Given the description of an element on the screen output the (x, y) to click on. 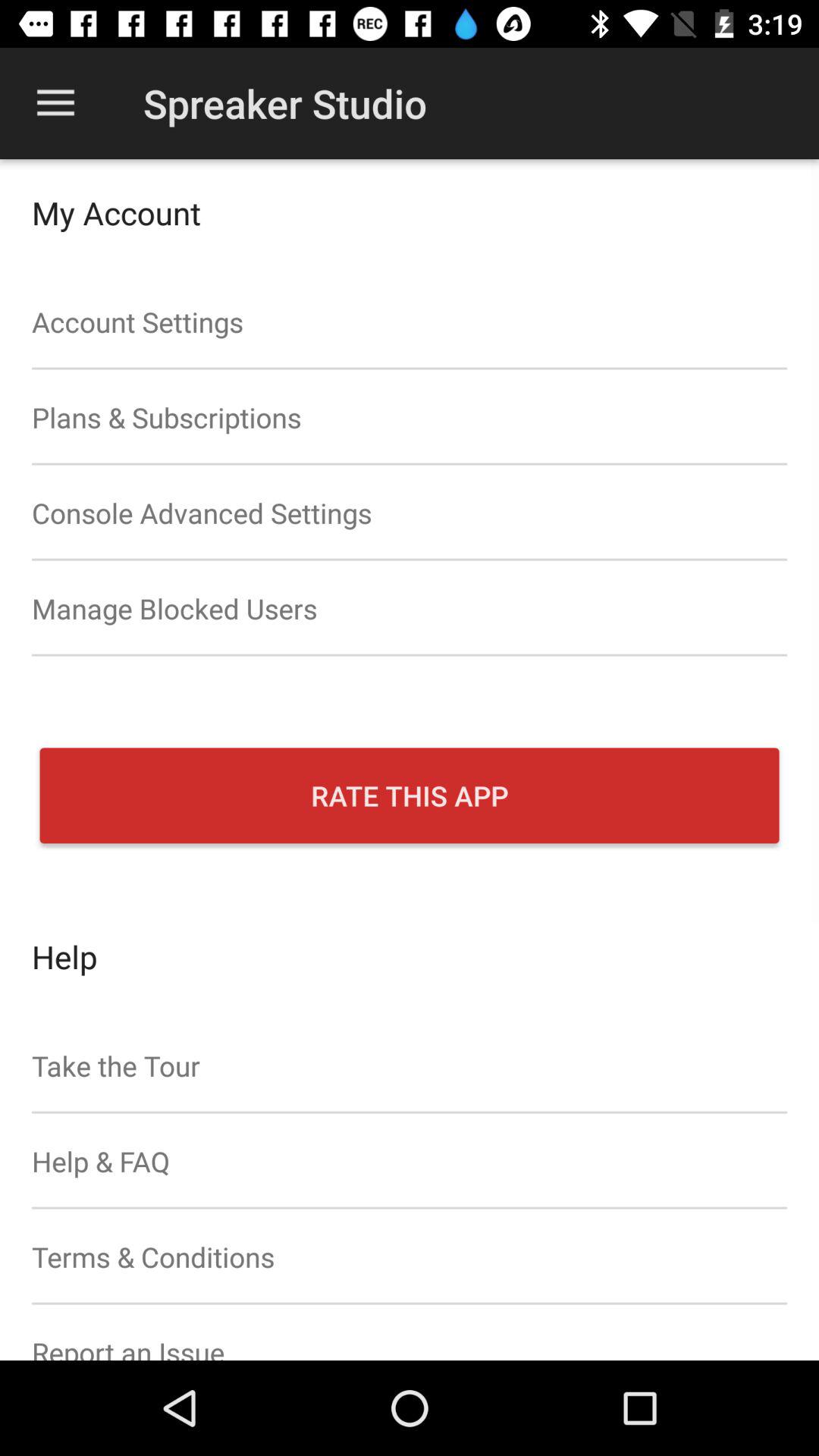
launch the rate this app icon (409, 795)
